Given the description of an element on the screen output the (x, y) to click on. 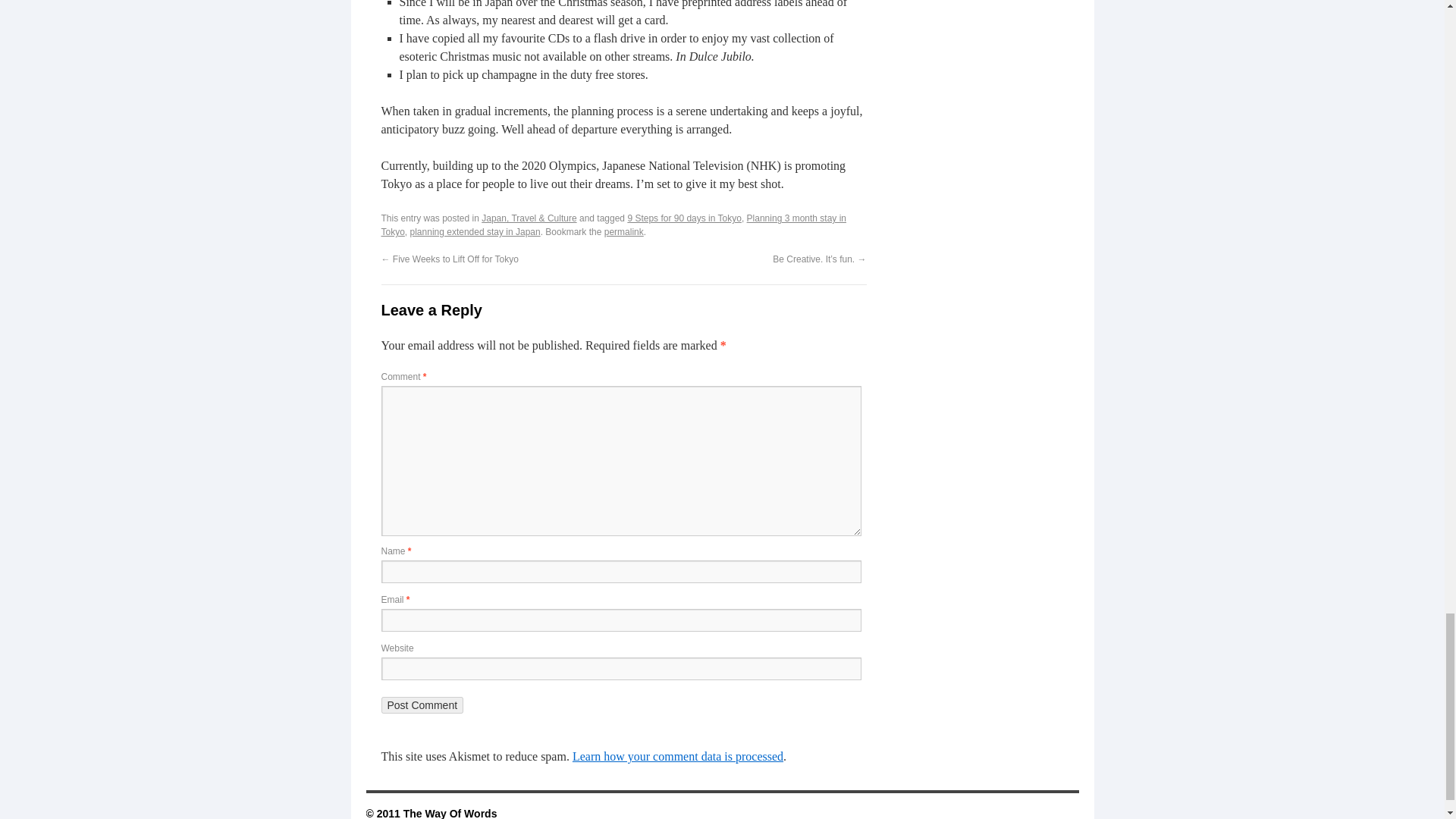
Permalink to Nine Steps to Organizing 90 Days in Tokyo (623, 231)
Planning 3 month stay in Tokyo (612, 224)
Post Comment (421, 704)
planning extended stay in Japan (475, 231)
9 Steps for 90 days in Tokyo (684, 217)
Learn how your comment data is processed (677, 756)
Post Comment (421, 704)
permalink (623, 231)
